Given the description of an element on the screen output the (x, y) to click on. 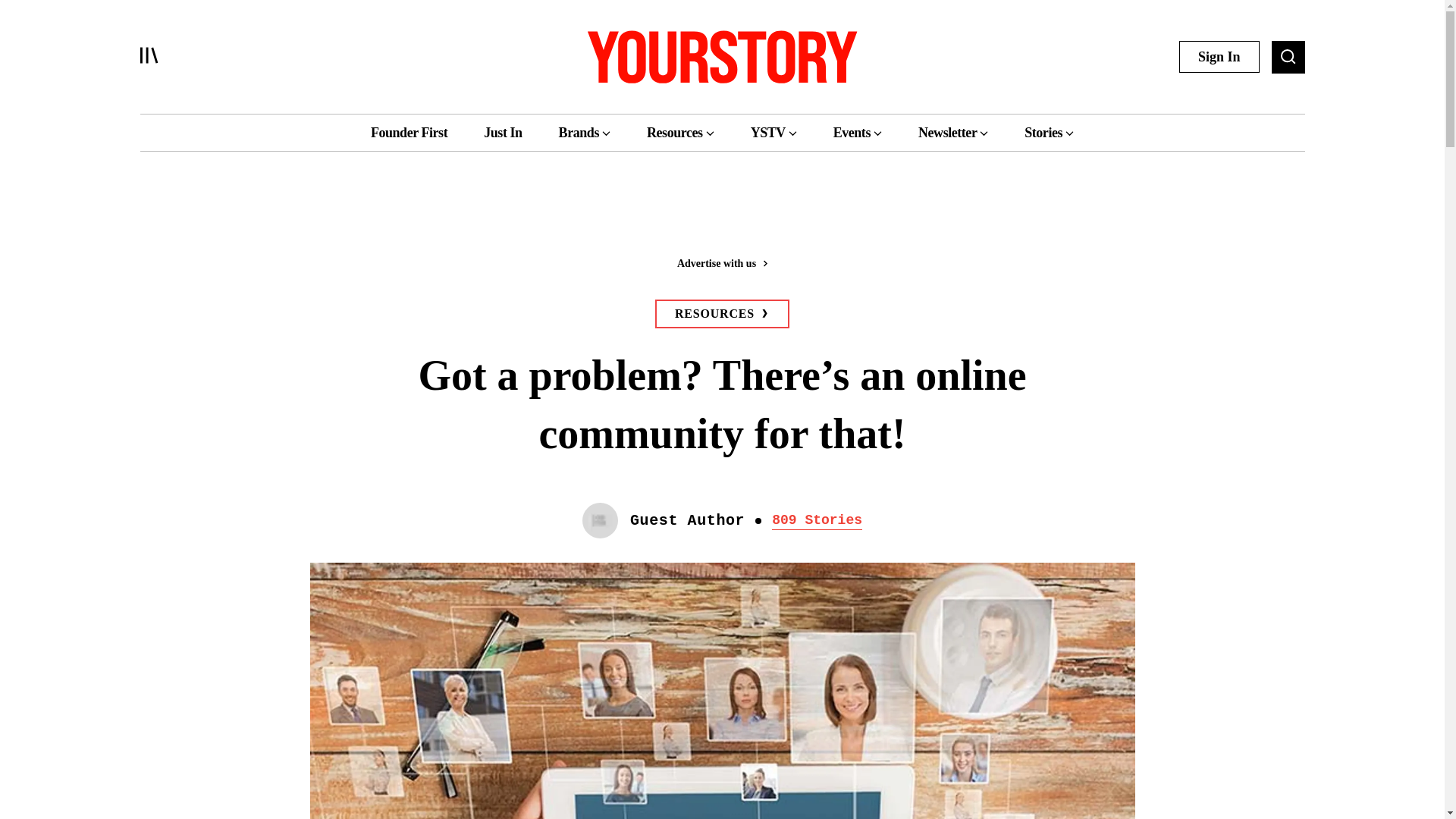
Guest Author (687, 519)
Advertise with us (721, 263)
Just In (502, 132)
RESOURCES (722, 313)
3rd party ad content (721, 213)
Founder First (408, 132)
809 Stories (816, 520)
